Given the description of an element on the screen output the (x, y) to click on. 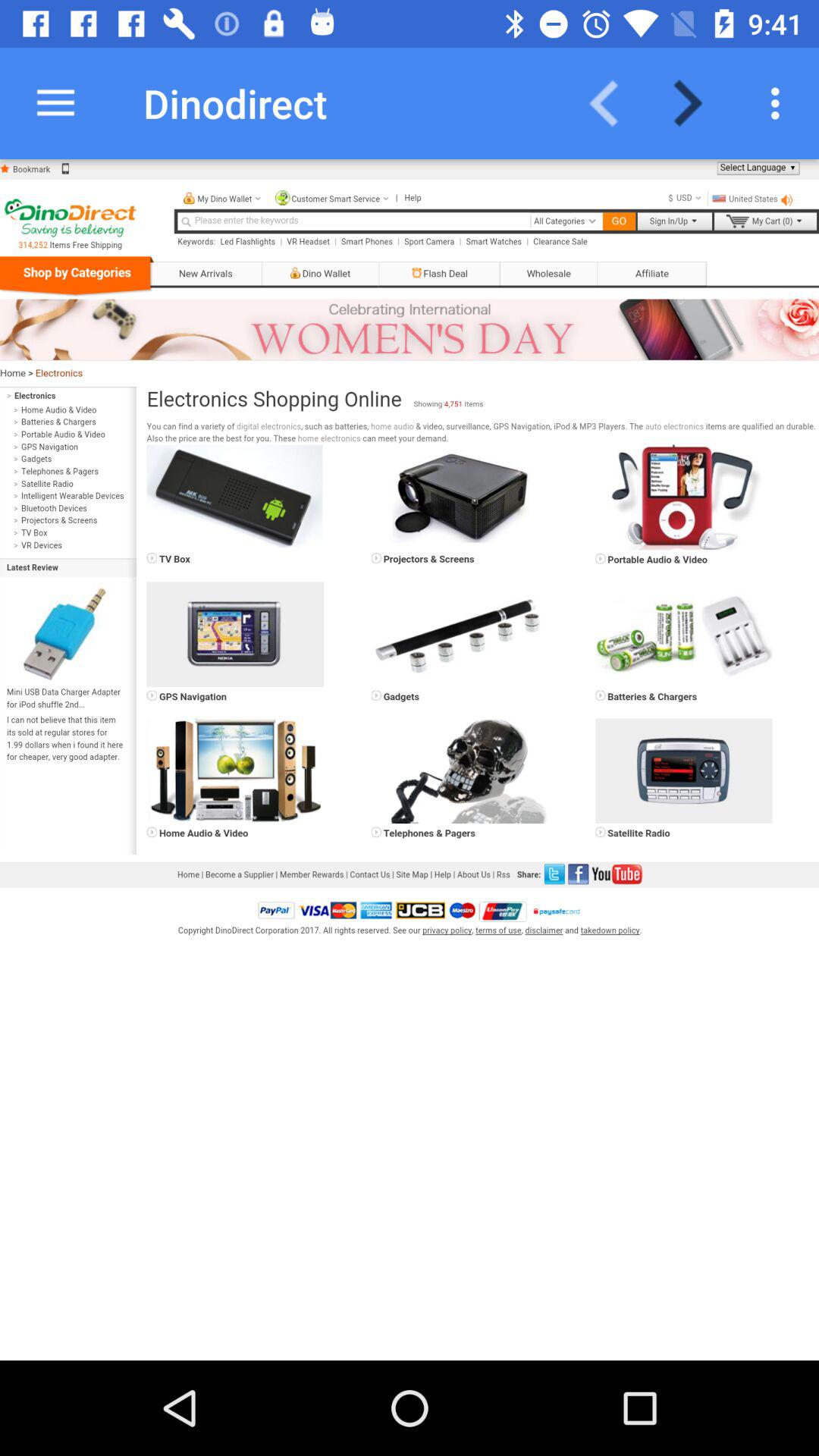
go next icon (697, 103)
